Given the description of an element on the screen output the (x, y) to click on. 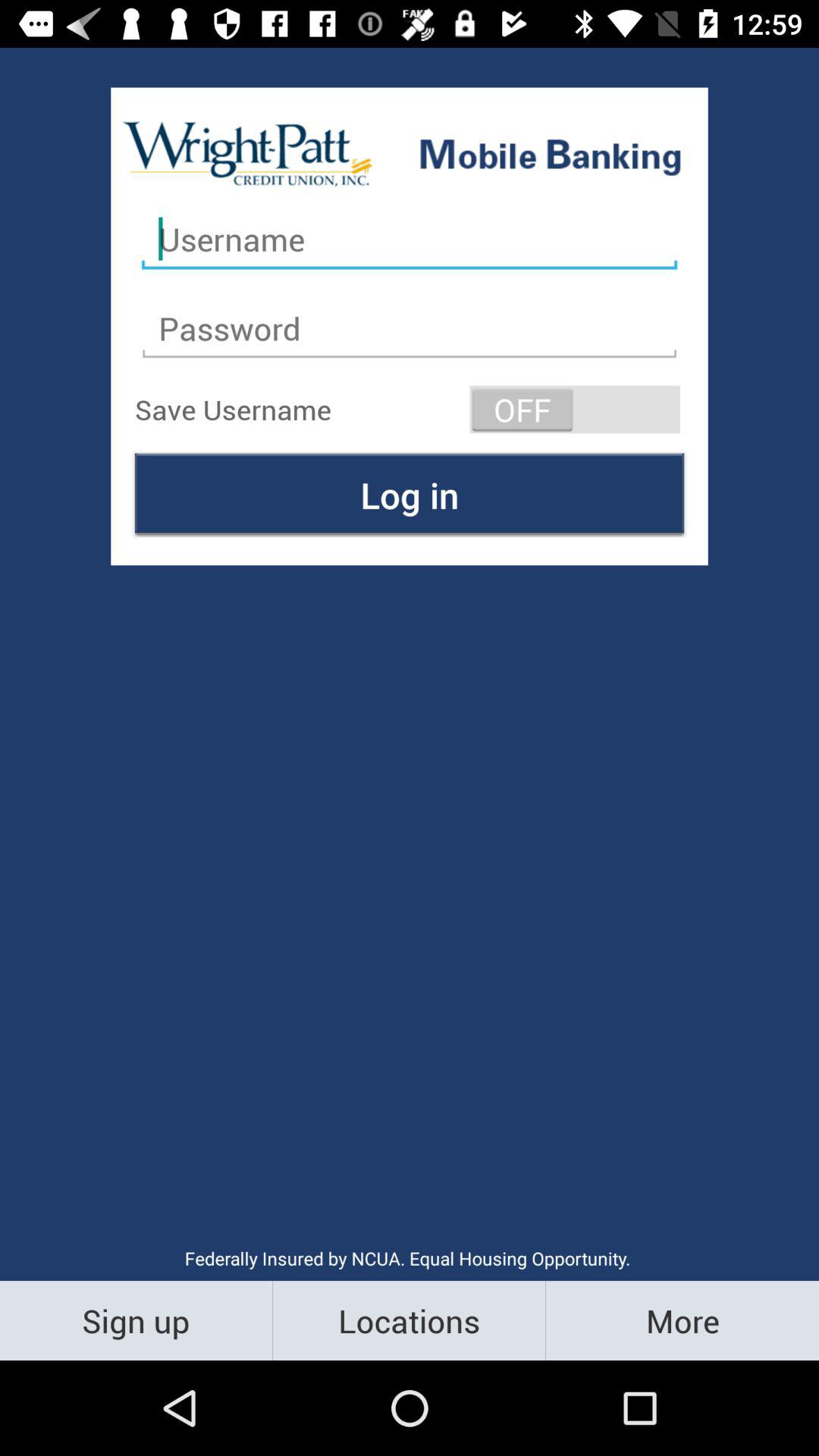
turn off icon next to the locations item (682, 1320)
